Given the description of an element on the screen output the (x, y) to click on. 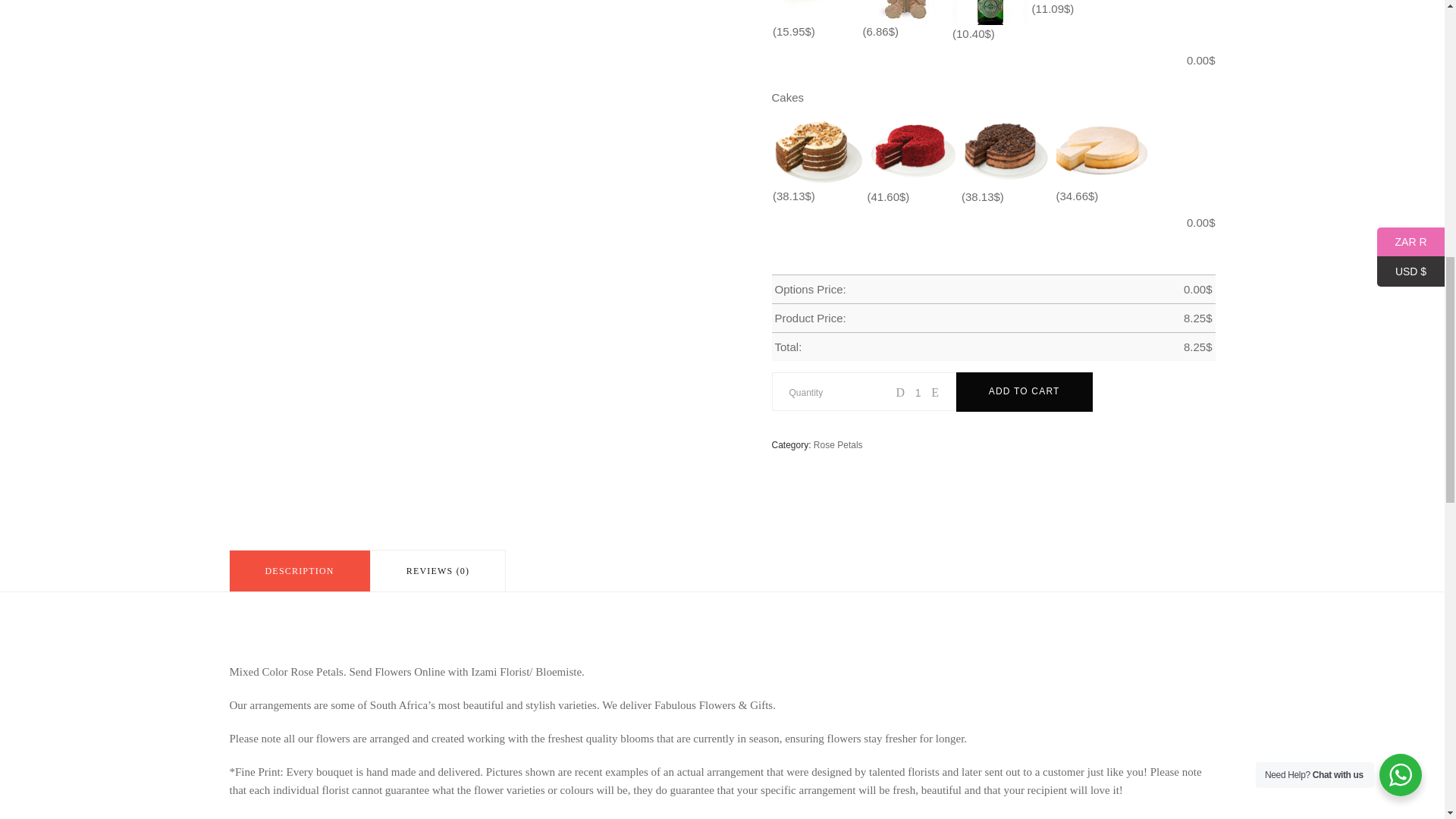
1 (917, 392)
Qty (917, 392)
4 (529, 59)
